Given the description of an element on the screen output the (x, y) to click on. 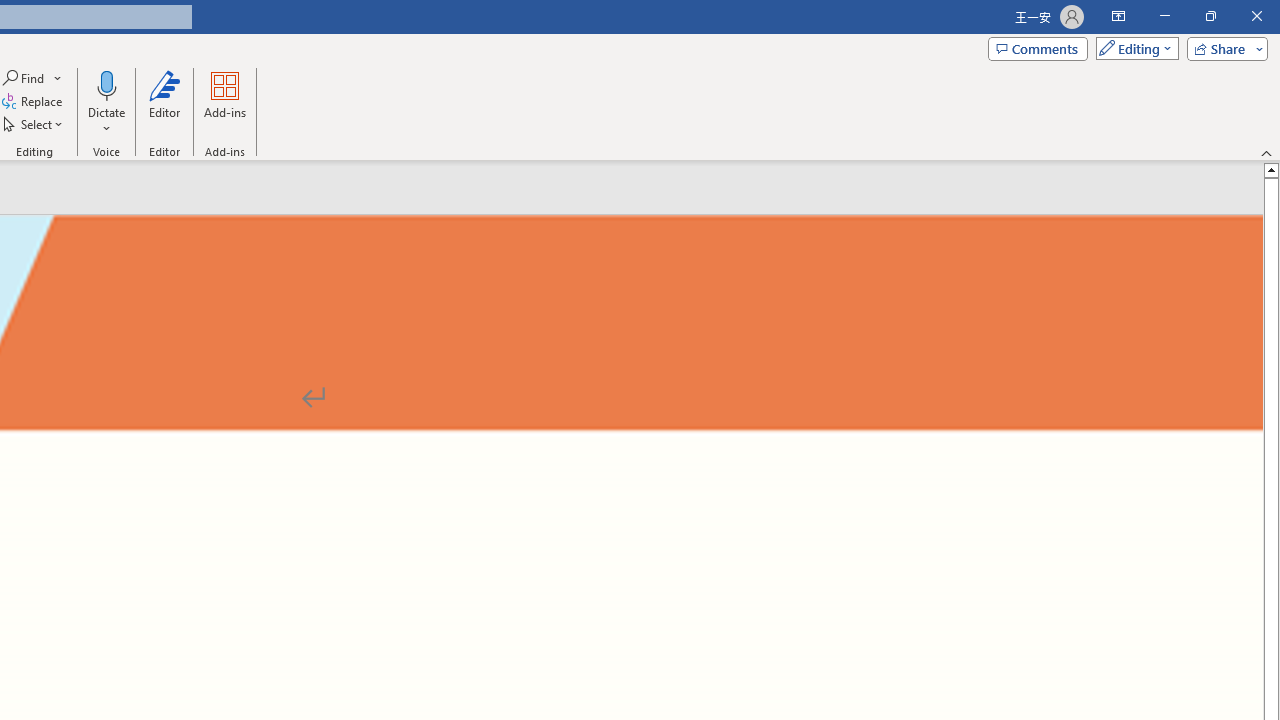
Line up (1271, 169)
